Given the description of an element on the screen output the (x, y) to click on. 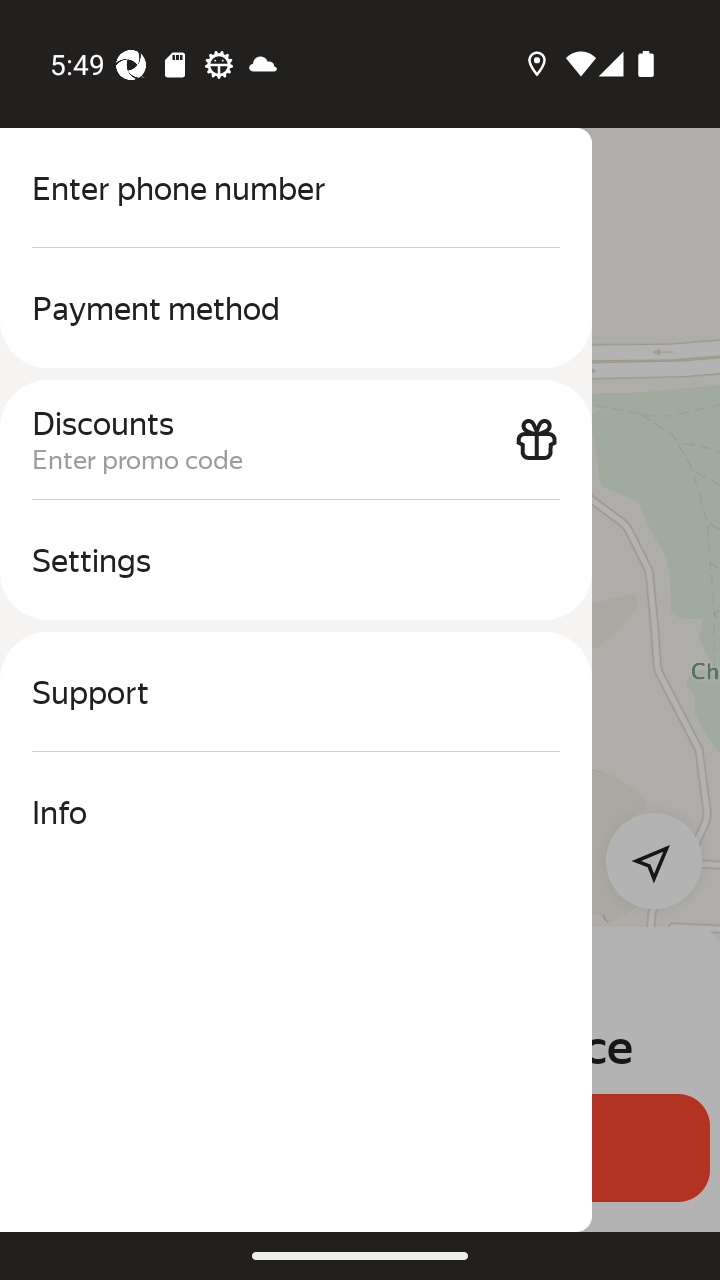
Enter phone number (295, 188)
Payment method (295, 308)
Settings (295, 559)
Support (295, 692)
Info (295, 811)
